Given the description of an element on the screen output the (x, y) to click on. 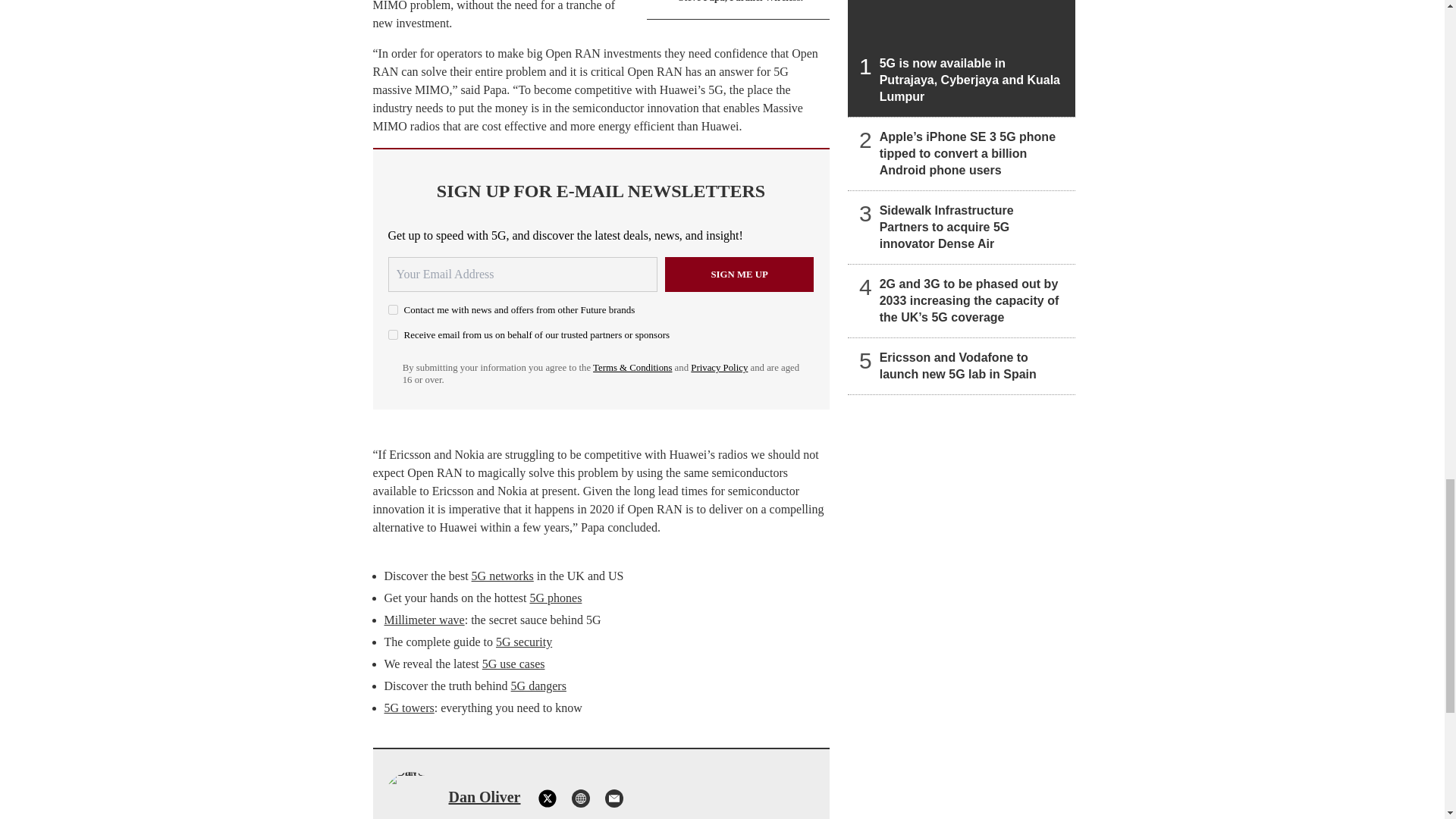
5G is now available in Putrajaya, Cyberjaya and Kuala Lumpur (961, 58)
Sign me up (739, 274)
Sign me up (739, 274)
on (392, 334)
5G networks (502, 575)
Privacy Policy (719, 367)
on (392, 309)
